Given the description of an element on the screen output the (x, y) to click on. 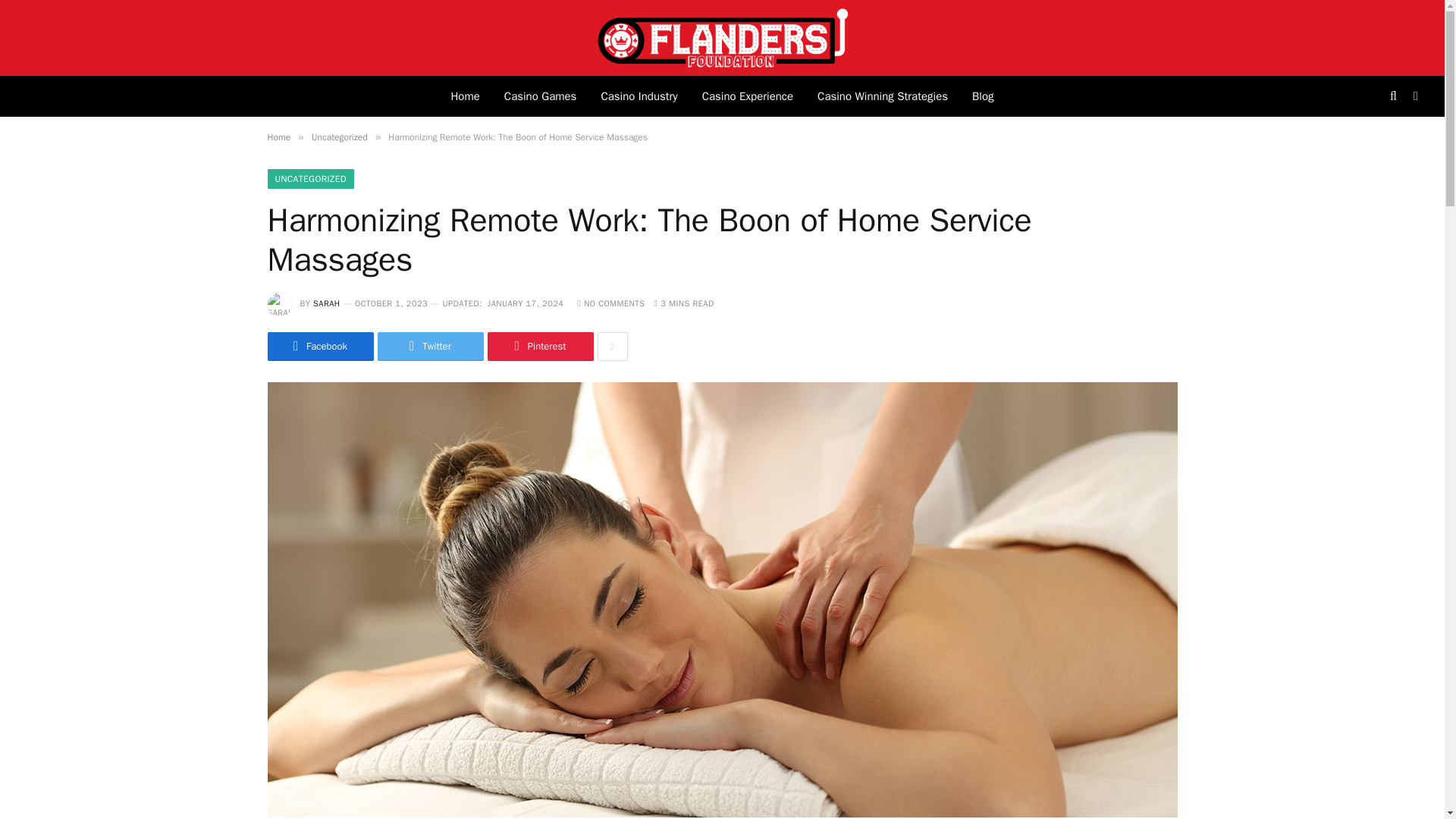
Pinterest (539, 346)
Blog (982, 96)
Casino Experience (747, 96)
Casino Industry (638, 96)
SARAH (326, 303)
Casino Winning Strategies (882, 96)
Posts by Sarah (326, 303)
Uncategorized (339, 137)
Twitter (430, 346)
Flanders Foundation (721, 38)
Home (465, 96)
Share on Pinterest (539, 346)
UNCATEGORIZED (309, 178)
Casino Games (540, 96)
Facebook (319, 346)
